Given the description of an element on the screen output the (x, y) to click on. 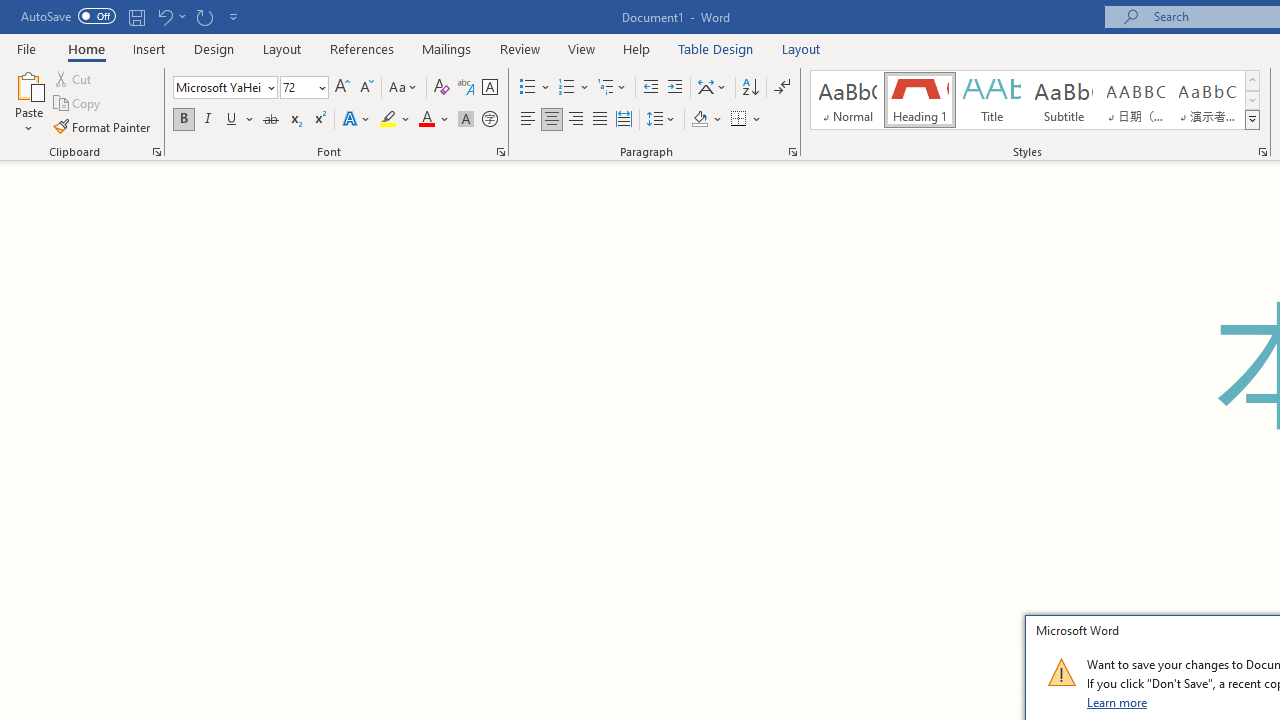
Subtitle (1063, 100)
Undo Grow Font (170, 15)
